Given the description of an element on the screen output the (x, y) to click on. 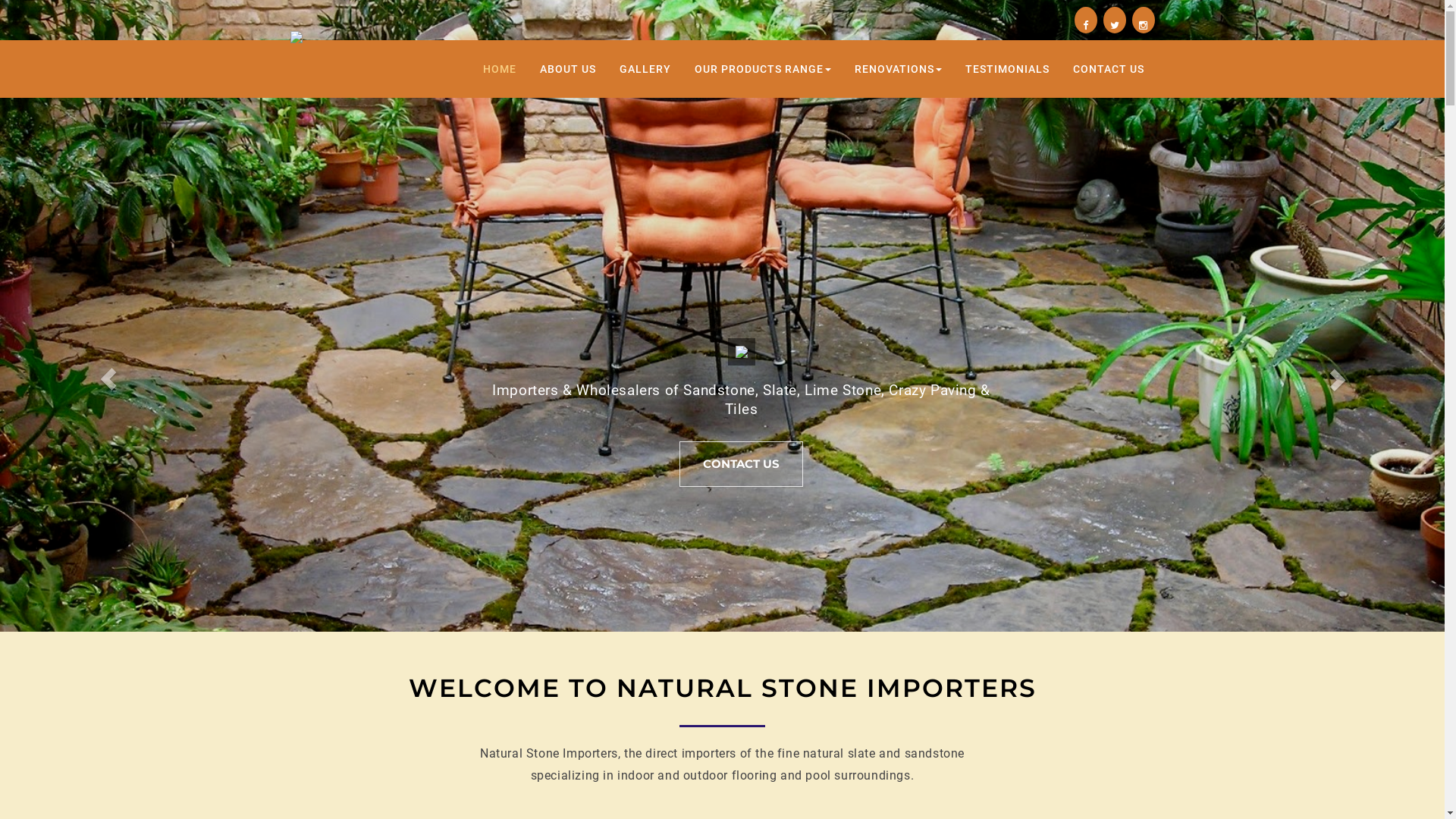
CONTACT US Element type: text (741, 463)
OUR PRODUCTS RANGE Element type: text (762, 68)
GALLERY Element type: text (644, 68)
CONTACT US Element type: text (1107, 68)
TESTIMONIALS Element type: text (1006, 68)
ABOUT US Element type: text (567, 68)
RENOVATIONS Element type: text (897, 68)
HOME Element type: text (498, 68)
